Given the description of an element on the screen output the (x, y) to click on. 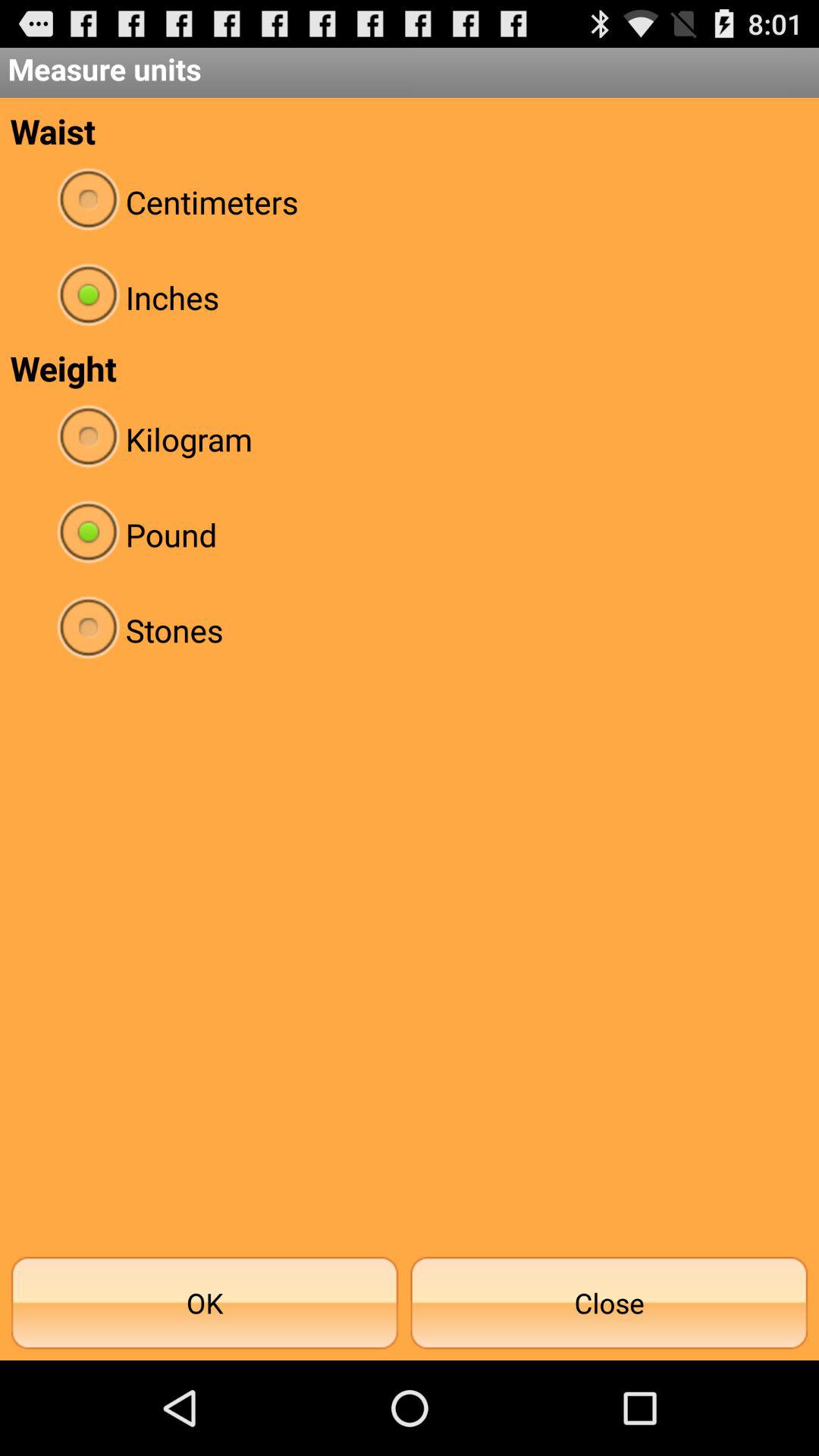
turn on the item above inches icon (409, 201)
